Given the description of an element on the screen output the (x, y) to click on. 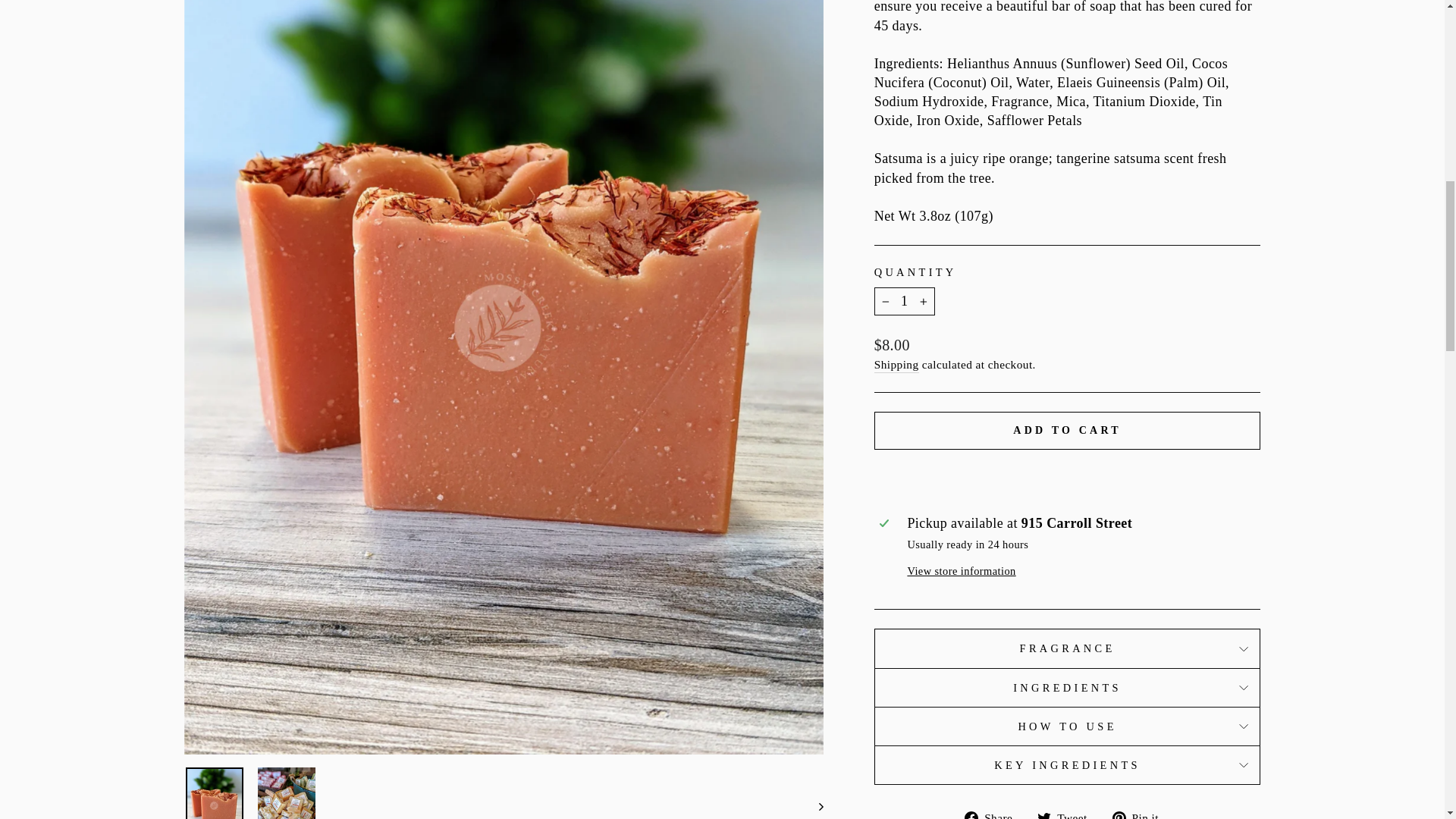
1 (904, 301)
Pin on Pinterest (1141, 813)
twitter (1043, 815)
Tweet on Twitter (1066, 813)
Share on Facebook (993, 813)
